Given the description of an element on the screen output the (x, y) to click on. 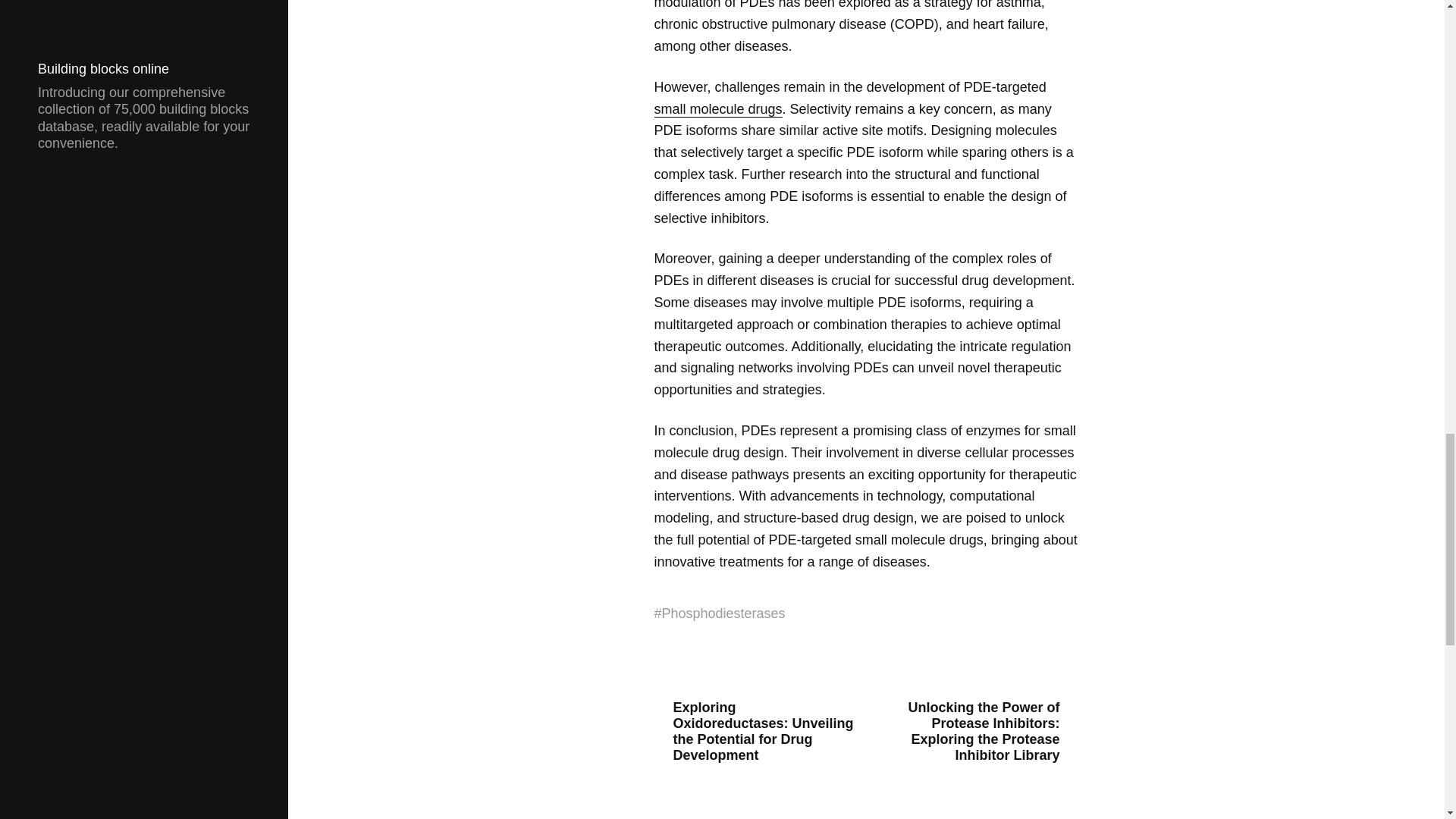
small molecule drugs (717, 109)
Phosphodiesterases (724, 613)
